Given the description of an element on the screen output the (x, y) to click on. 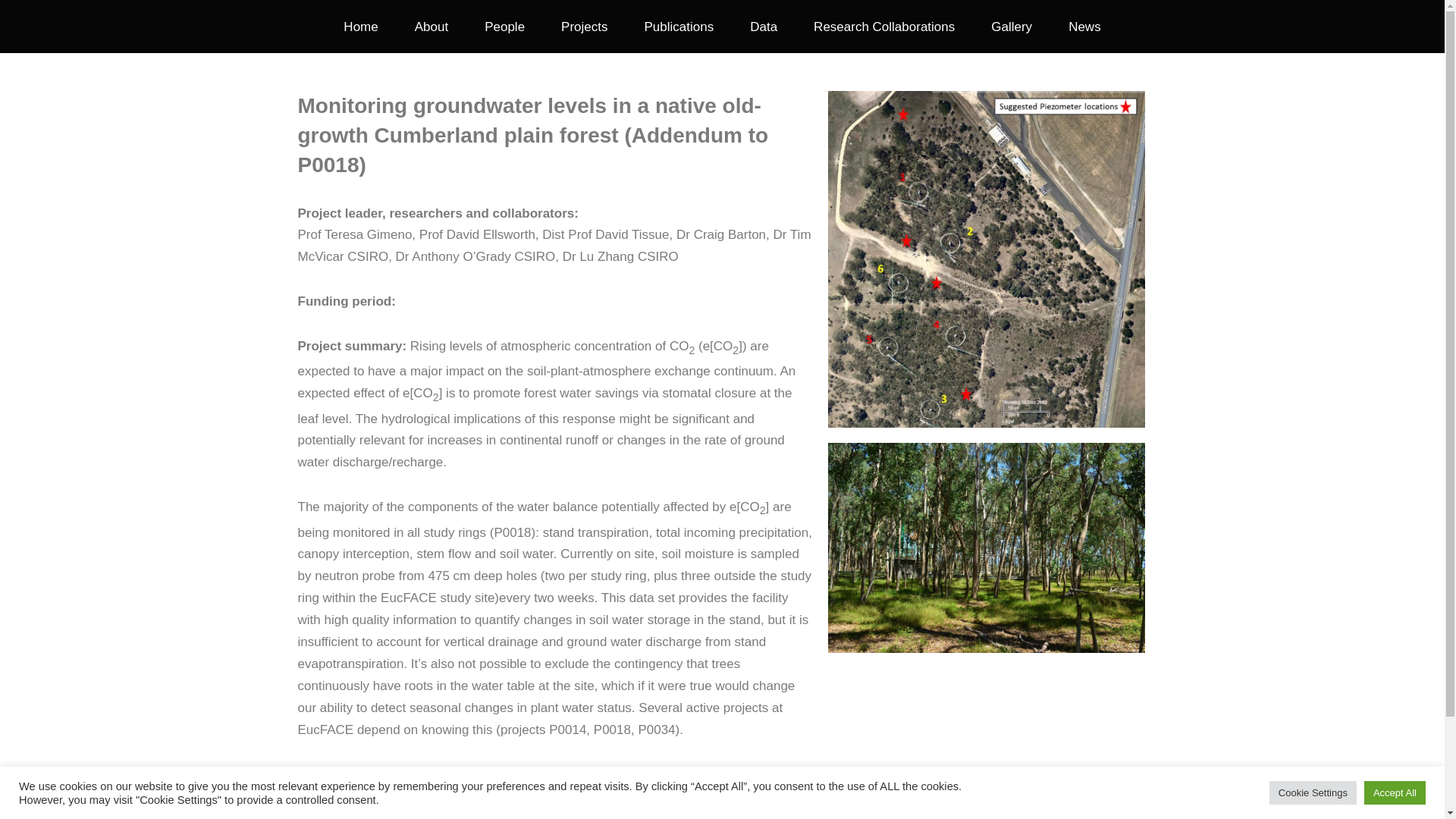
Cookie Settings (1312, 792)
Data (763, 25)
Accept All (1394, 792)
About (431, 25)
Research Collaborations (884, 25)
Home (360, 25)
Publications (679, 25)
People (504, 25)
News (1084, 25)
Projects (583, 25)
Gallery (1011, 25)
Skip to content (11, 31)
